Given the description of an element on the screen output the (x, y) to click on. 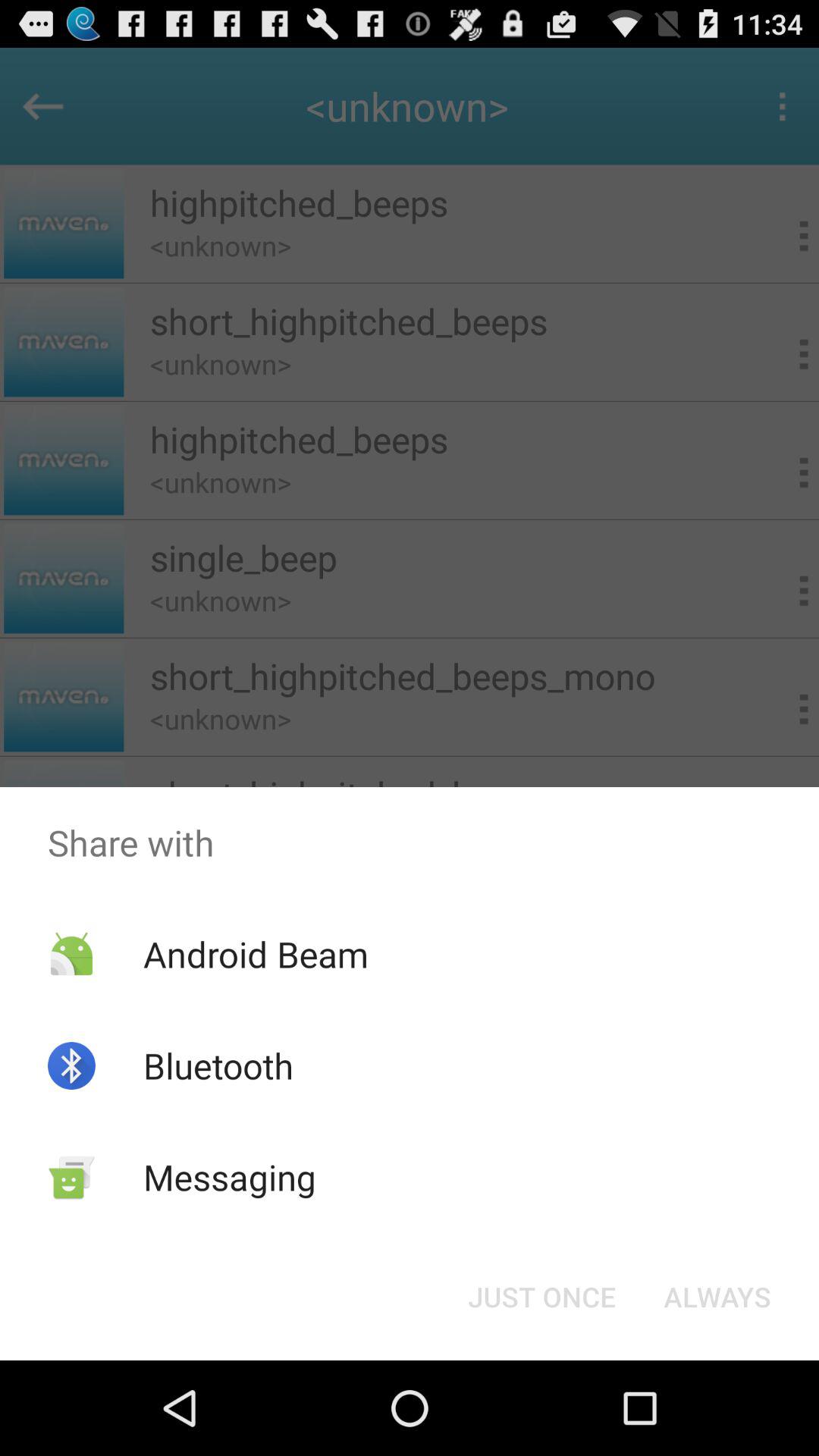
choose icon below bluetooth icon (229, 1176)
